Given the description of an element on the screen output the (x, y) to click on. 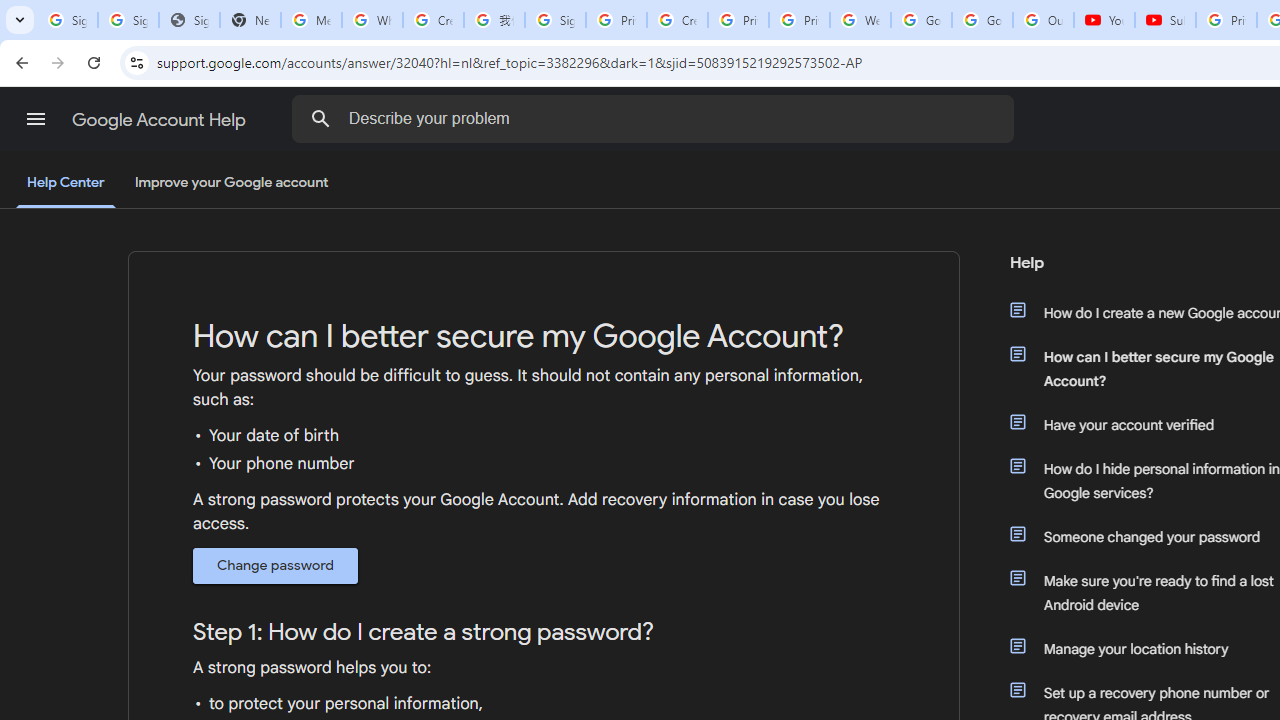
Create your Google Account (676, 20)
Main menu (35, 119)
Create your Google Account (433, 20)
Describe your problem (655, 118)
